Given the description of an element on the screen output the (x, y) to click on. 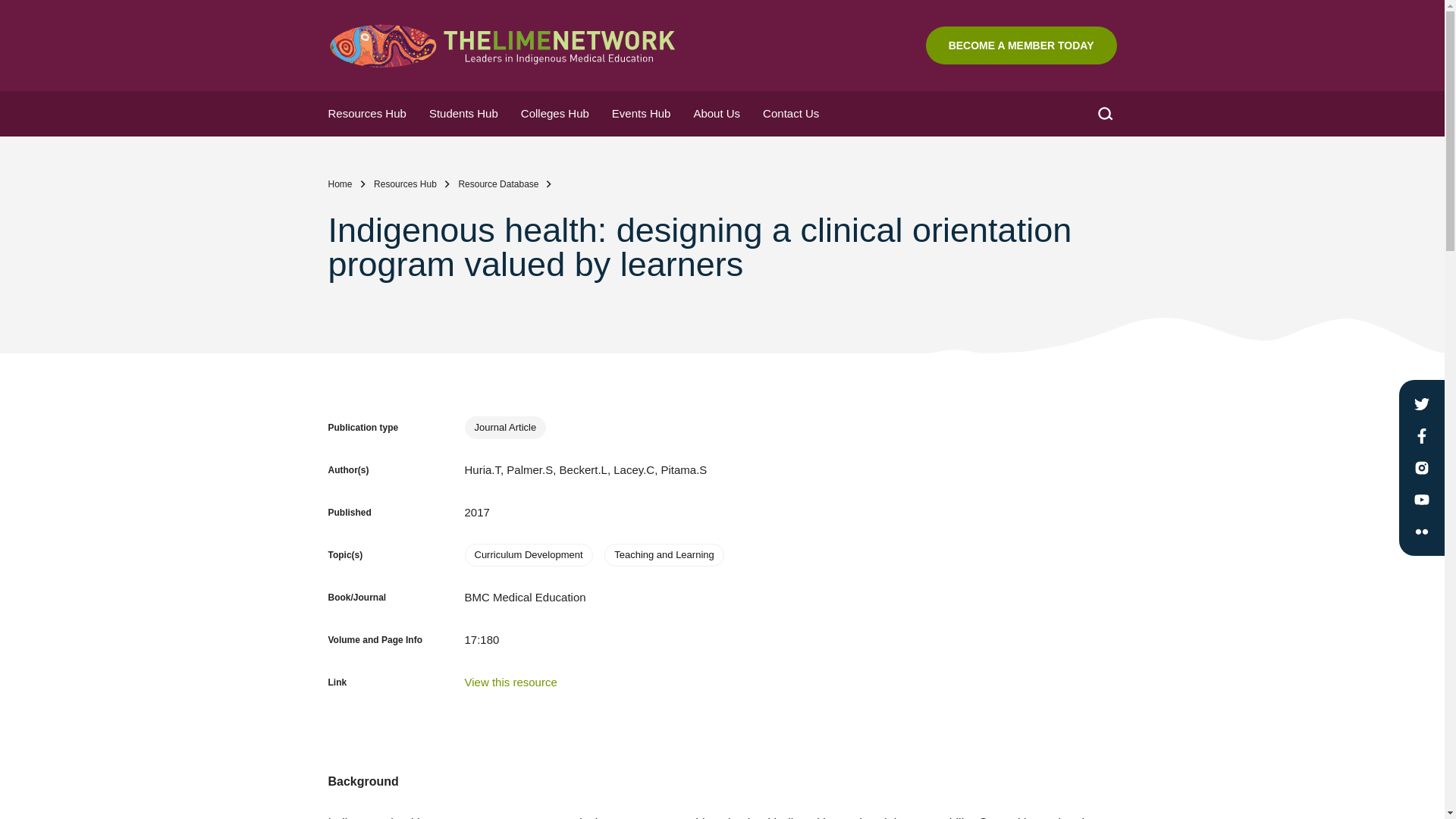
Students Hub (463, 113)
Contact Us (790, 113)
About Us (716, 113)
Find us on Flickr (1421, 531)
Events Hub (640, 113)
Colleges Hub (554, 113)
Resources Hub (367, 113)
Watch us on YouTube (1421, 499)
Connect on Facebook (1421, 435)
Follow us on Instagram (1421, 467)
BECOME A MEMBER TODAY (1021, 45)
Follow us on Twitter (1421, 403)
